Given the description of an element on the screen output the (x, y) to click on. 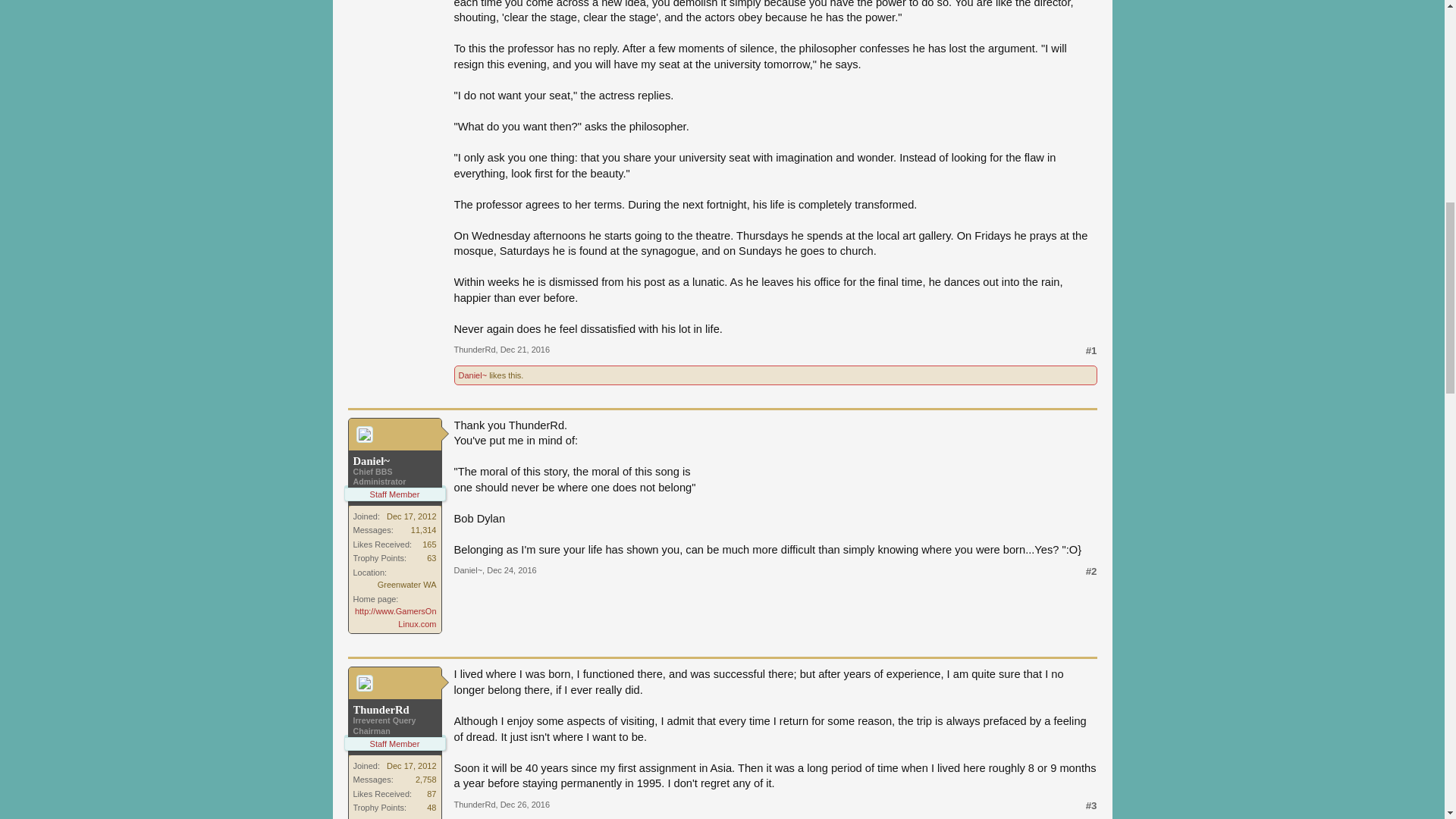
Permalink (525, 348)
48 (430, 807)
Dec 26, 2016 (525, 804)
ThunderRd (473, 804)
Permalink (510, 569)
2,758 (425, 778)
Permalink (525, 804)
11,314 (423, 529)
Dec 21, 2016 (525, 348)
63 (430, 557)
